Given the description of an element on the screen output the (x, y) to click on. 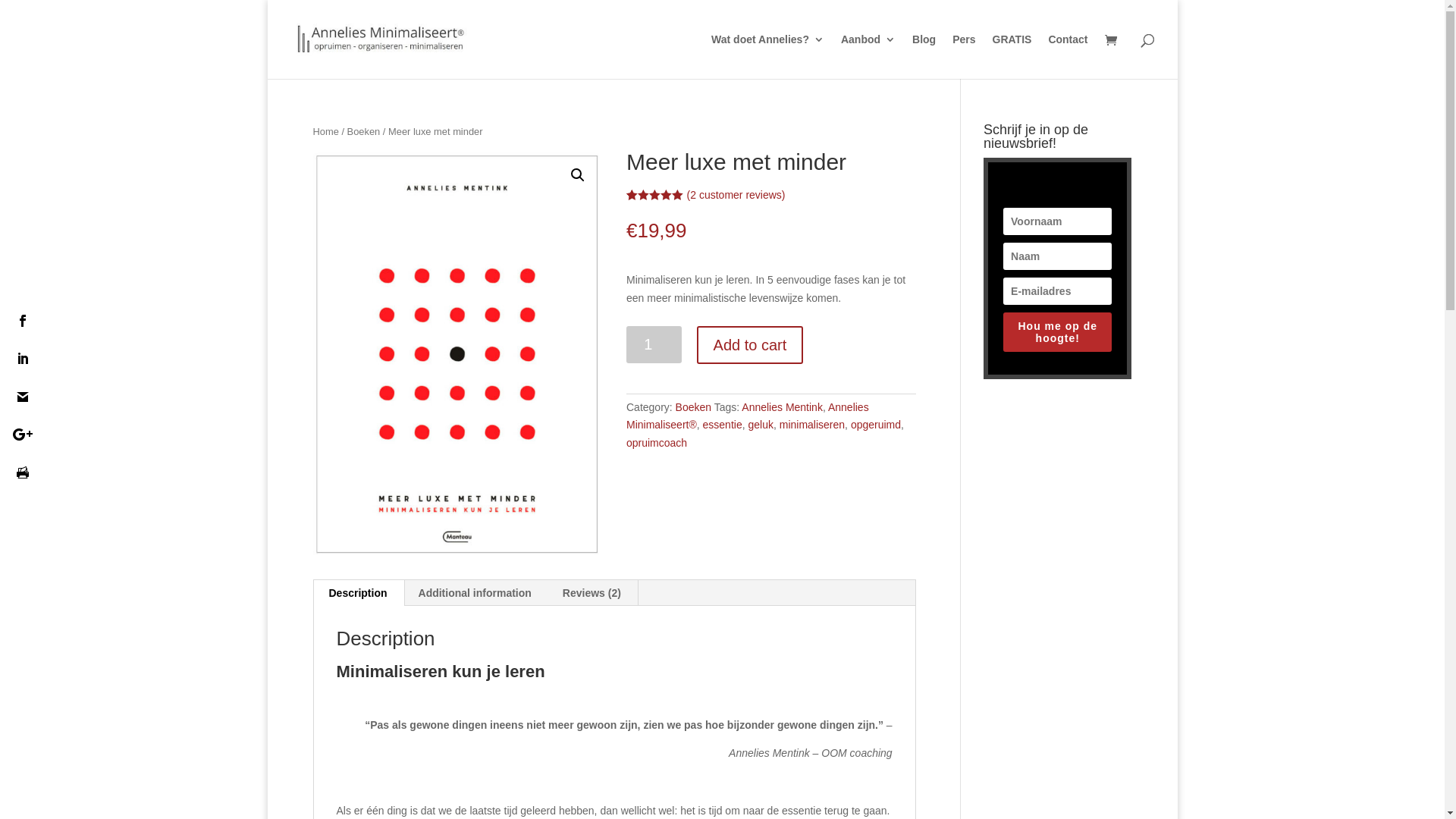
opgeruimd Element type: text (875, 424)
essentie Element type: text (722, 424)
Boeken Element type: text (693, 406)
Home Element type: text (325, 131)
Annelies Mentink Element type: text (781, 406)
minimaliseren Element type: text (811, 424)
Pers Element type: text (963, 56)
Blog Element type: text (923, 56)
opruimcoach Element type: text (656, 442)
GRATIS Element type: text (1012, 56)
Meer luxe met minder. Element type: hover (457, 353)
Add to cart Element type: text (749, 345)
Qty Element type: hover (653, 344)
Wat doet Annelies? Element type: text (767, 56)
(2 customer reviews) Element type: text (736, 194)
Reviews (2) Element type: text (591, 592)
Additional information Element type: text (474, 592)
Contact Element type: text (1067, 56)
Aanbod Element type: text (867, 56)
geluk Element type: text (759, 424)
Hou me op de hoogte! Element type: text (1057, 331)
Boeken Element type: text (363, 131)
Description Element type: text (358, 592)
